Given the description of an element on the screen output the (x, y) to click on. 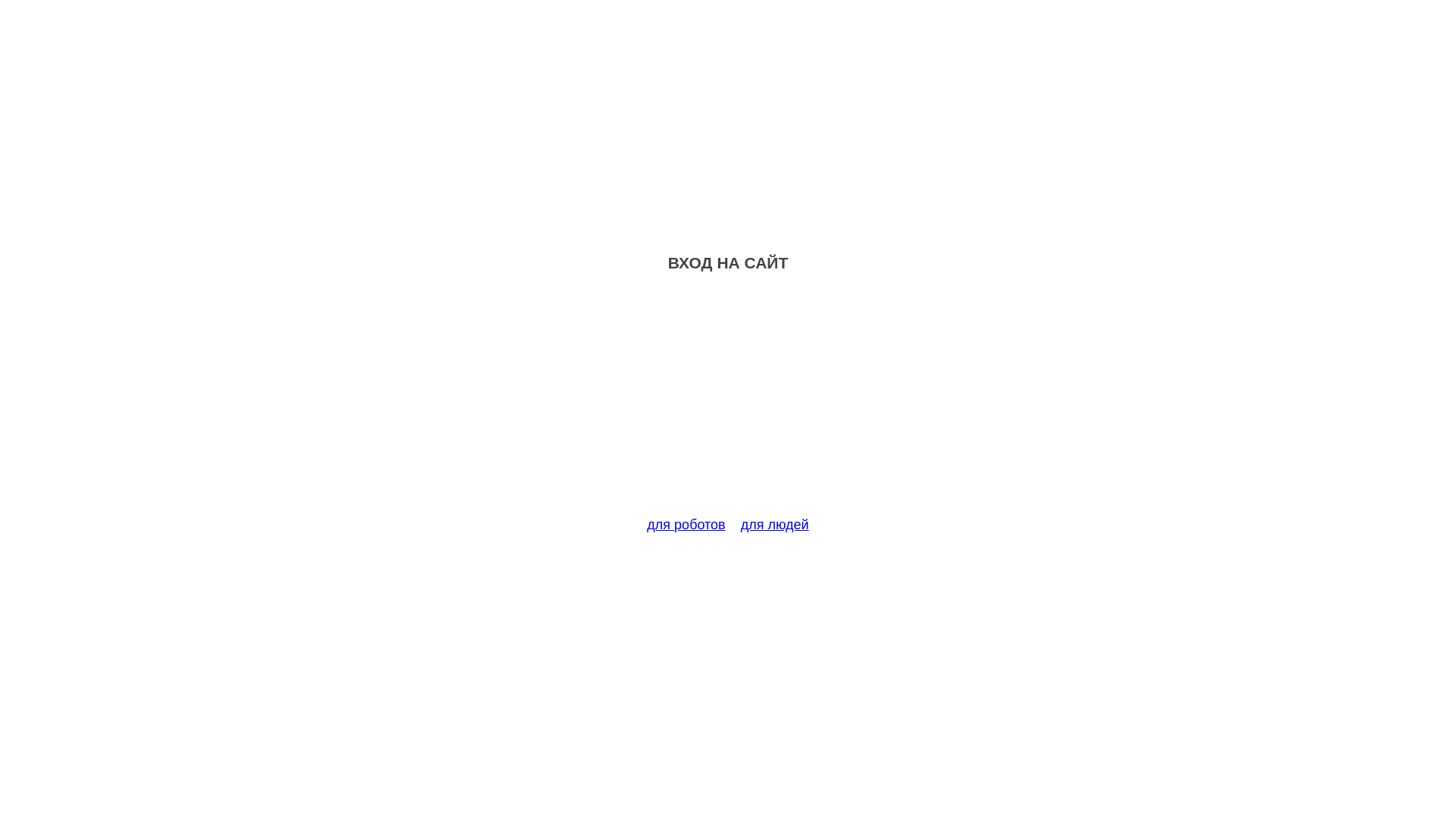
Advertisement Element type: hover (727, 403)
